Given the description of an element on the screen output the (x, y) to click on. 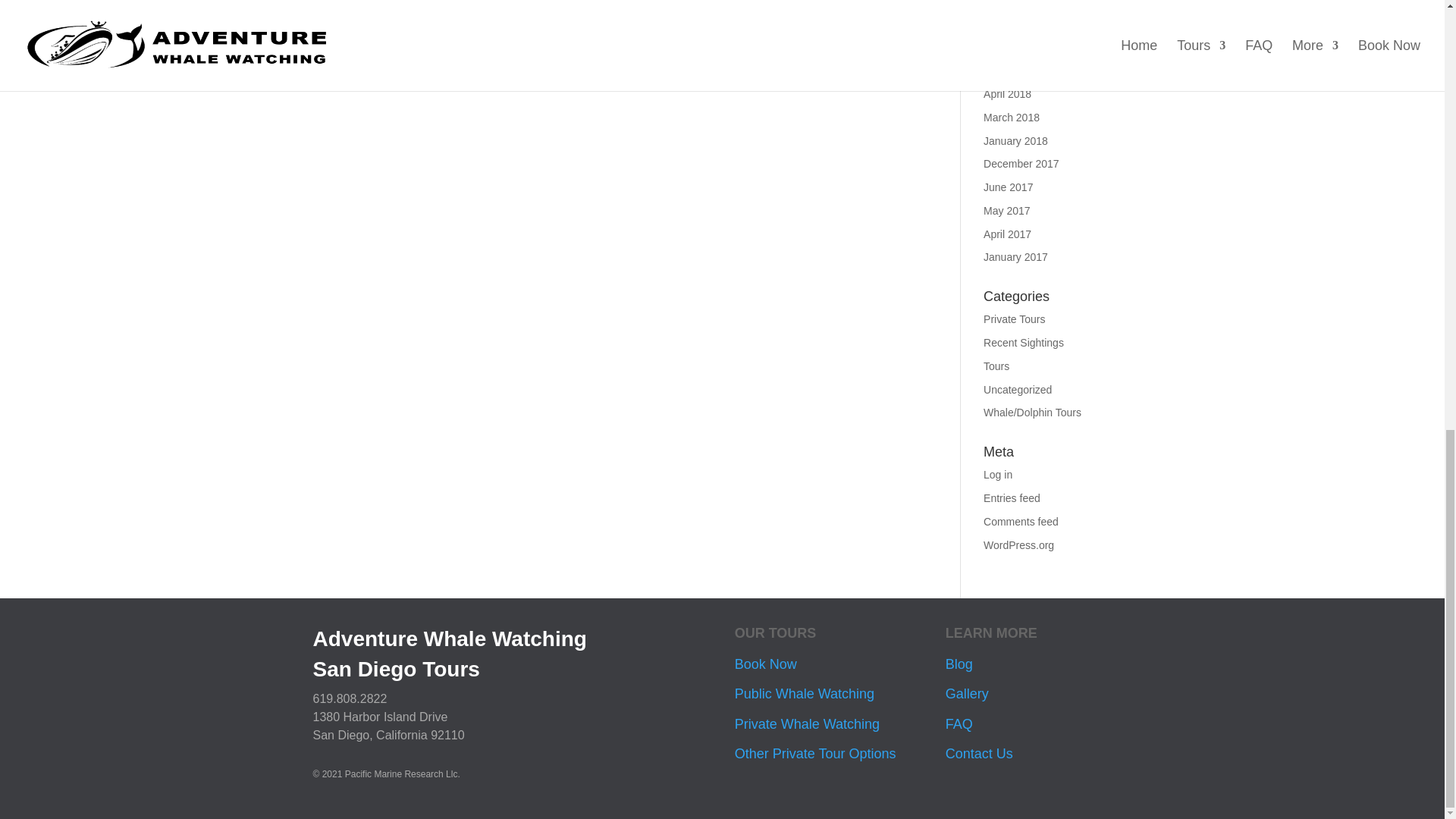
Book Now (765, 663)
See dolphin up close from one of our boats! (415, 53)
Private Whale Watching (807, 724)
FAQ (958, 724)
Private Tour Options (815, 753)
Blog (958, 663)
Public Whale Watching (805, 693)
Learn more about dolphins by watching an educational video! (457, 24)
Gallery (966, 693)
